Given the description of an element on the screen output the (x, y) to click on. 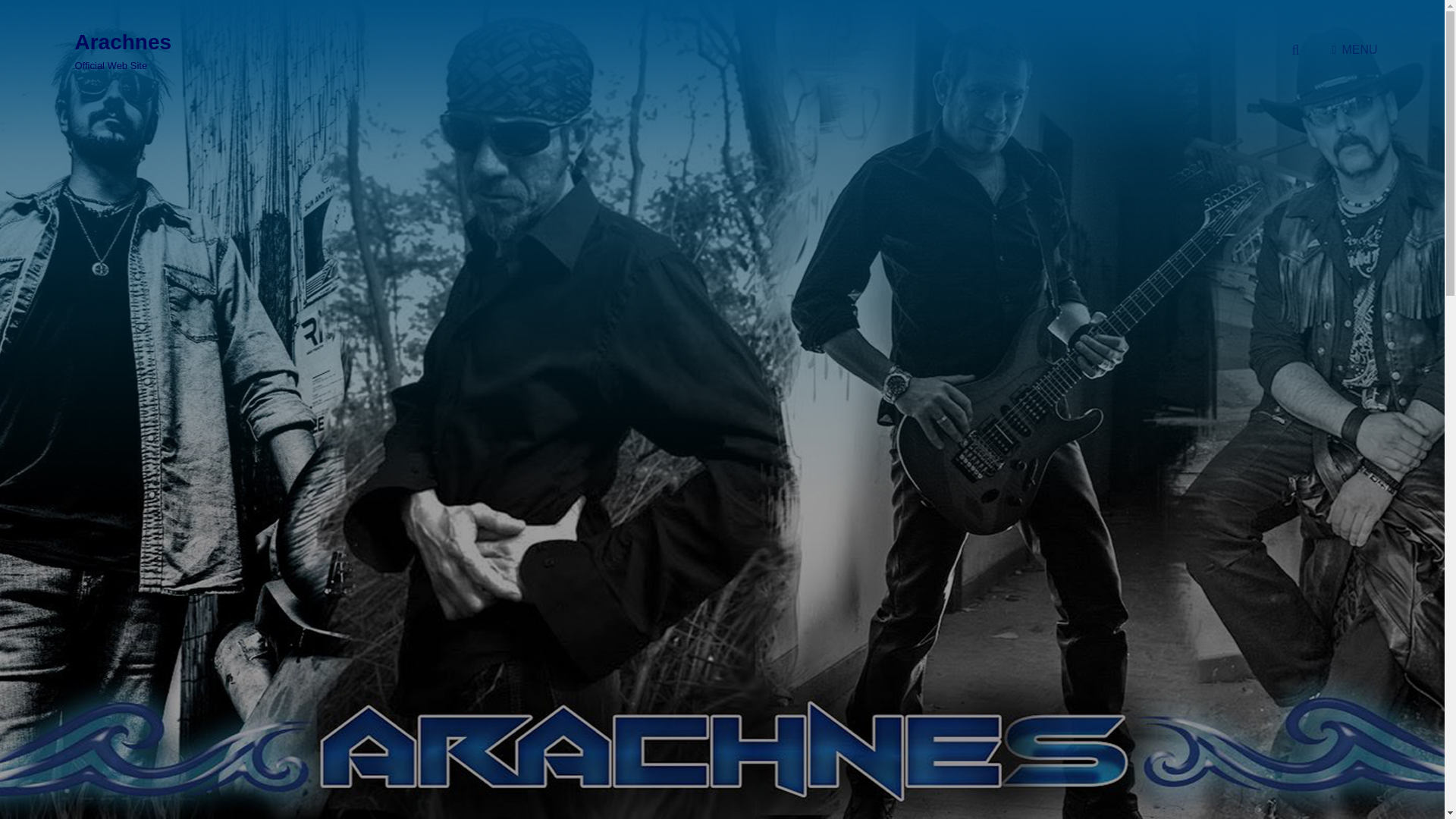
SEARCH (1294, 50)
MENU (1346, 50)
Arachnes (122, 42)
